Given the description of an element on the screen output the (x, y) to click on. 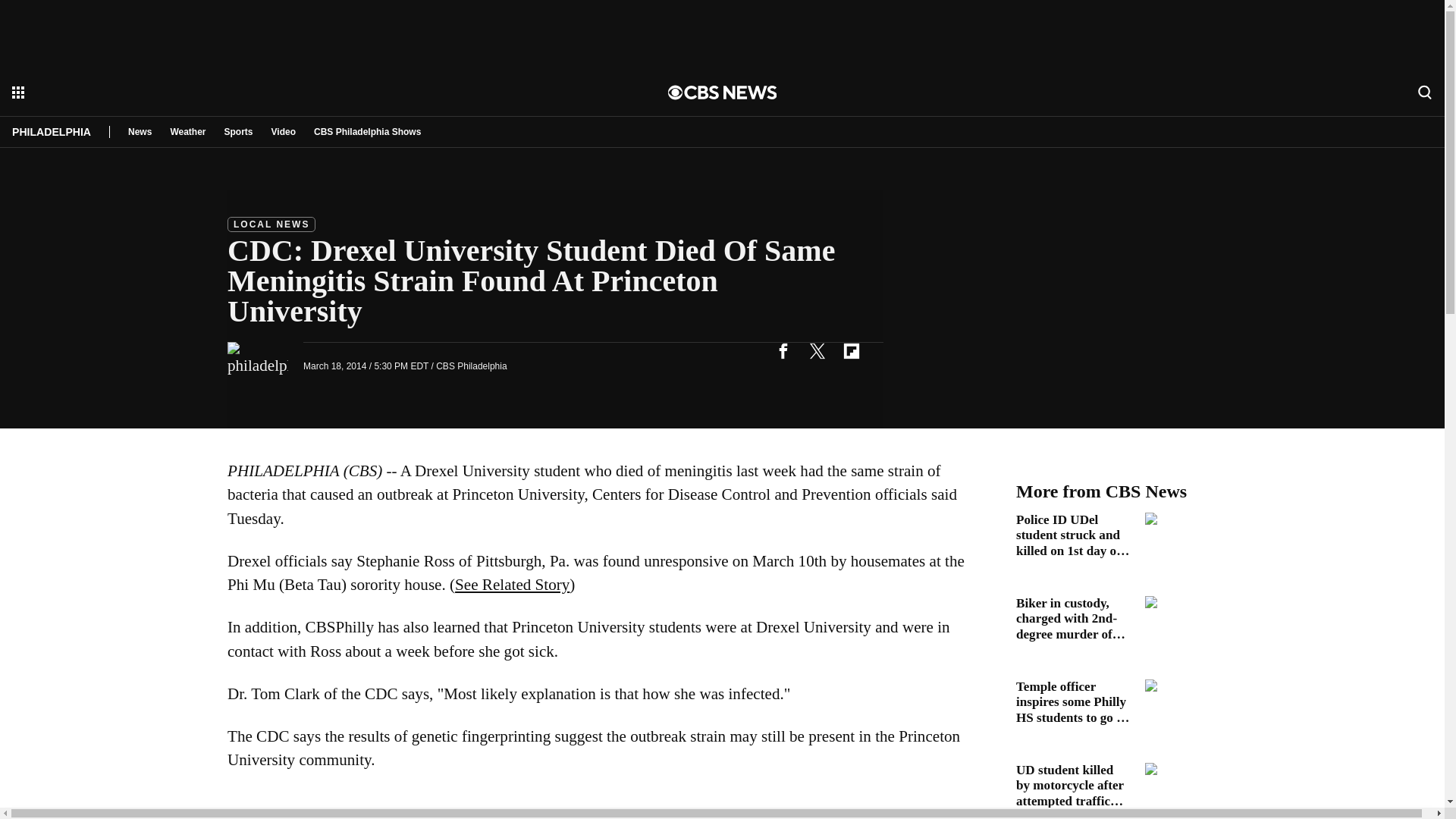
flipboard (850, 350)
facebook (782, 350)
twitter (816, 350)
